Given the description of an element on the screen output the (x, y) to click on. 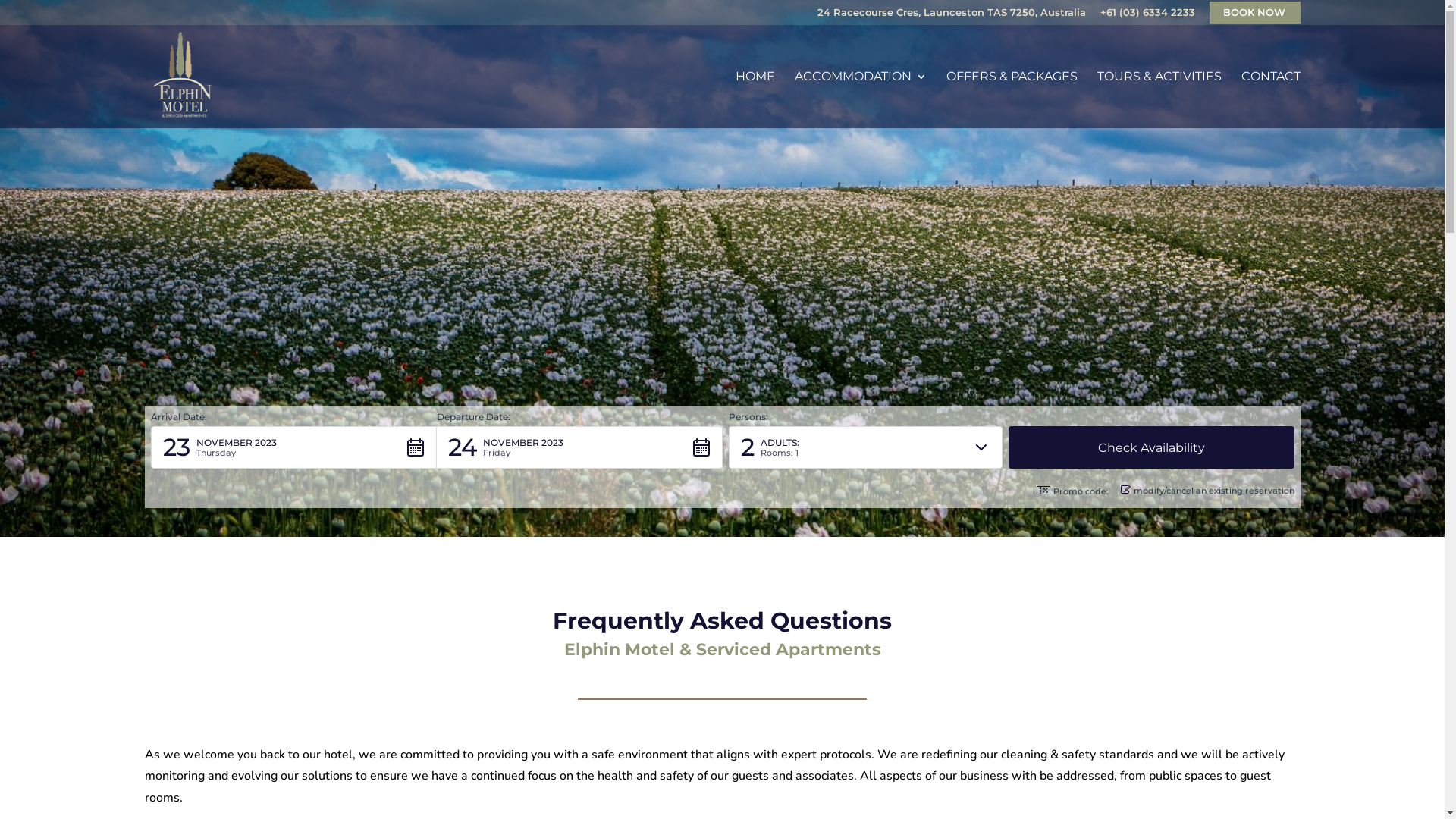
TOURS & ACTIVITIES Element type: text (1158, 99)
HOME Element type: text (755, 99)
+61 (03) 6334 2233 Element type: text (1146, 16)
modify/cancel an existing reservation Element type: text (1207, 490)
BOOK NOW Element type: text (1253, 12)
CONTACT Element type: text (1269, 99)
Promo code: Element type: text (1071, 491)
24 Racecourse Cres, Launceston TAS 7250, Australia Element type: text (951, 16)
OFFERS & PACKAGES Element type: text (1011, 99)
ACCOMMODATION Element type: text (860, 99)
